Given the description of an element on the screen output the (x, y) to click on. 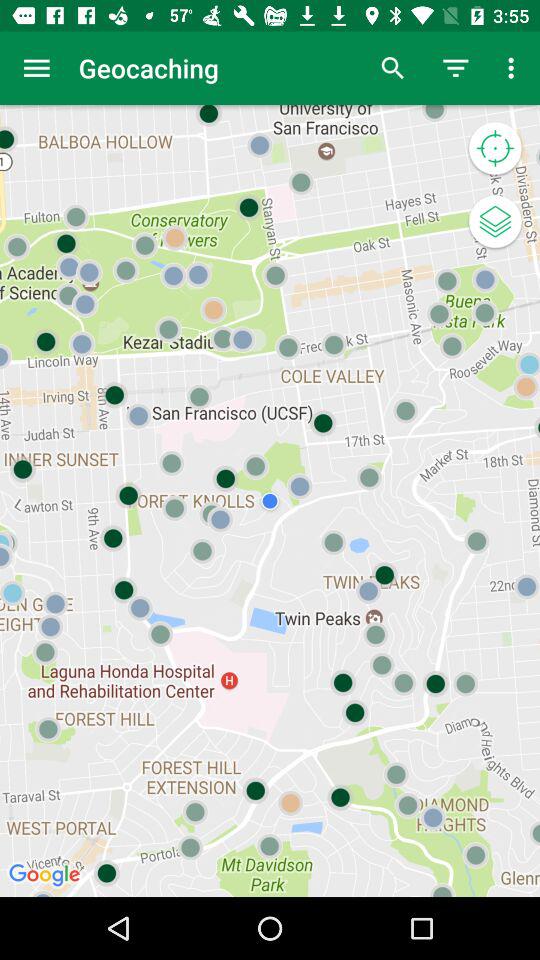
press the item next to geocaching icon (36, 68)
